Given the description of an element on the screen output the (x, y) to click on. 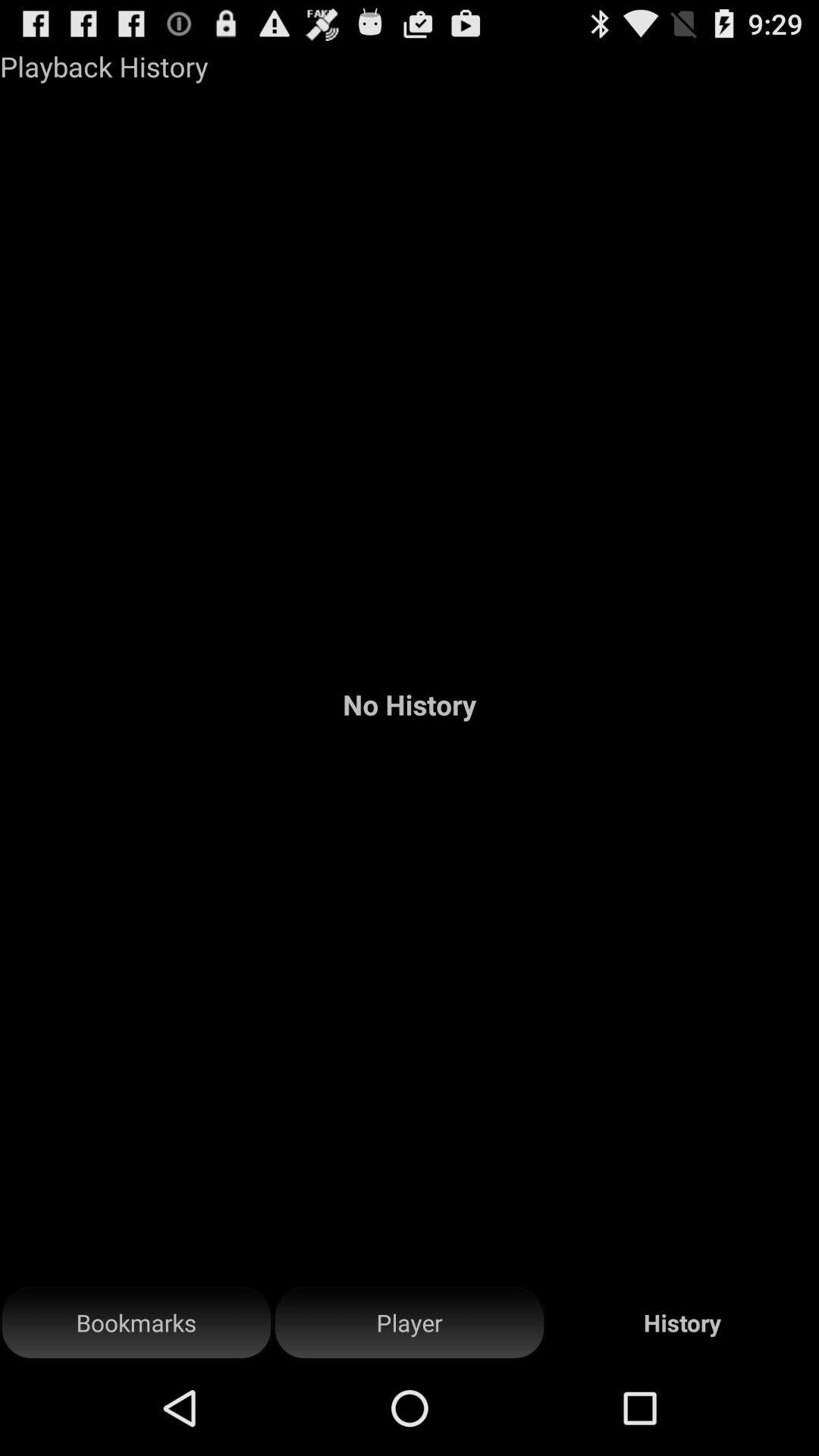
launch the button next to the player icon (136, 1323)
